Given the description of an element on the screen output the (x, y) to click on. 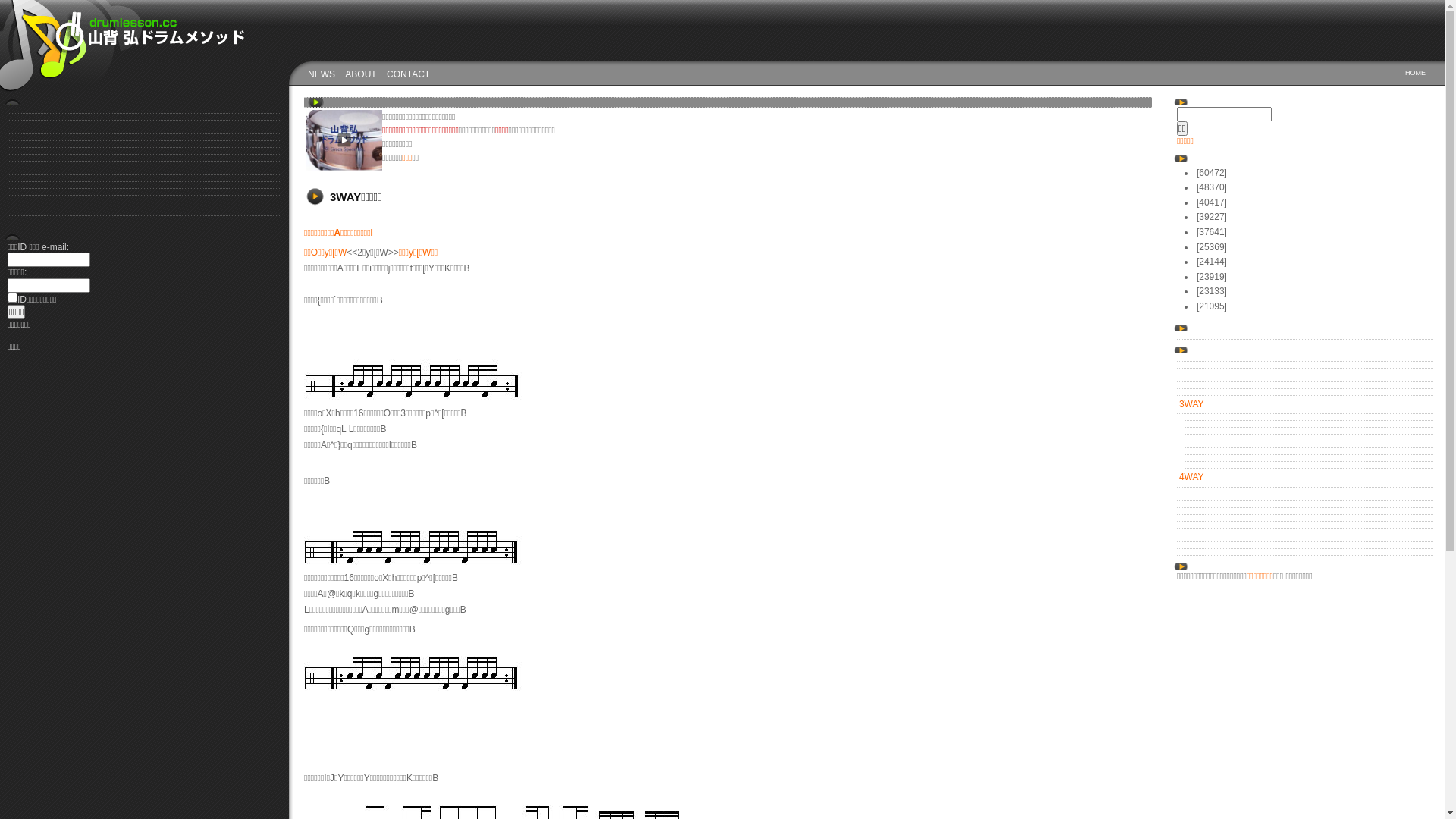
4WAY Element type: text (1304, 477)
3WAY Element type: text (1304, 404)
NEWS Element type: text (321, 74)
ABOUT Element type: text (360, 74)
HOME Element type: text (1415, 72)
CONTACT Element type: text (407, 74)
